Given the description of an element on the screen output the (x, y) to click on. 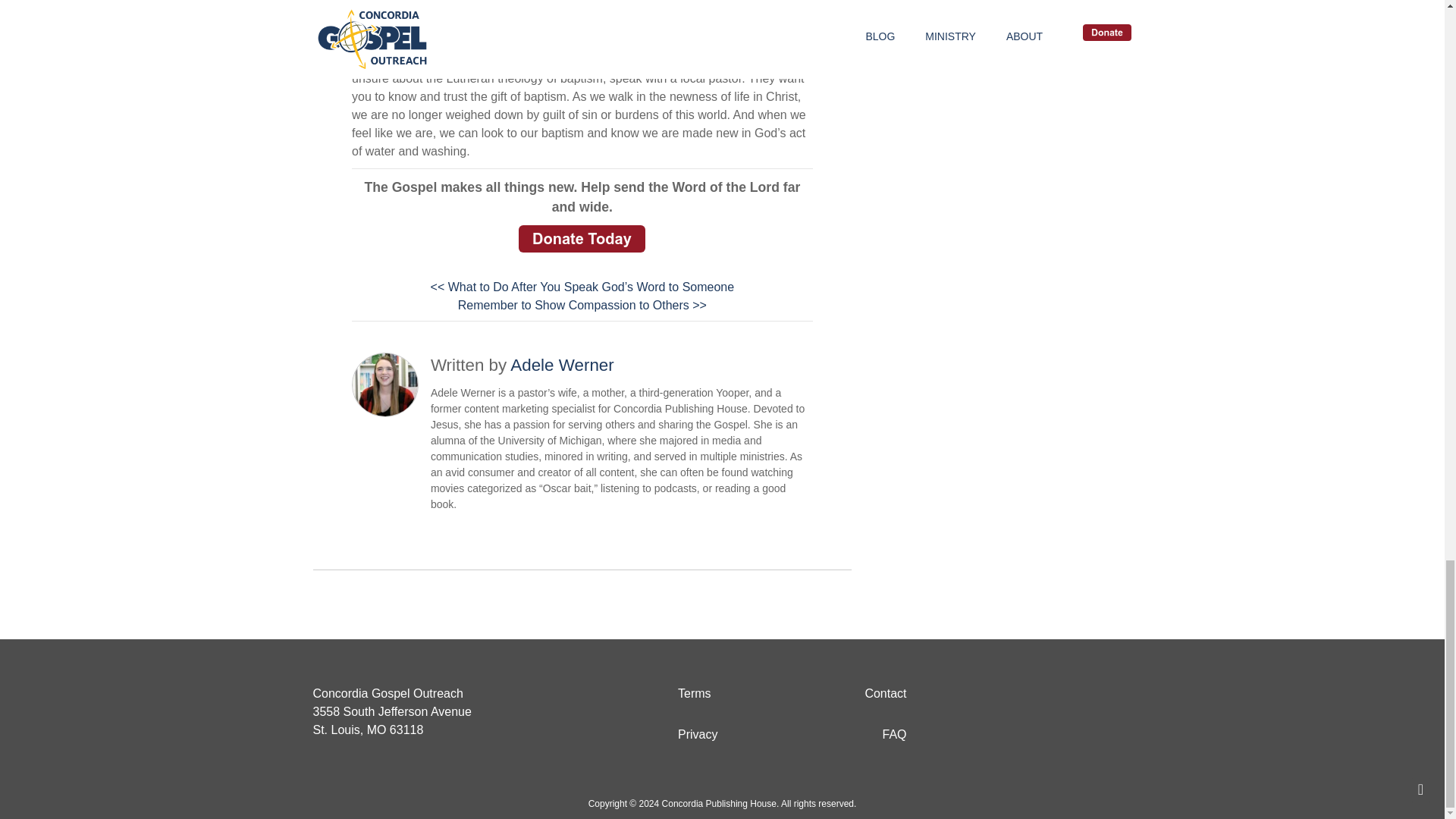
Follow us on Facebook (1075, 681)
Follow us on YouTube (1051, 681)
Follow us on Twitter (1051, 711)
Follow us on Instagram (1099, 681)
Adele Werner (562, 364)
The Lutheran Study Bible (582, 15)
